Given the description of an element on the screen output the (x, y) to click on. 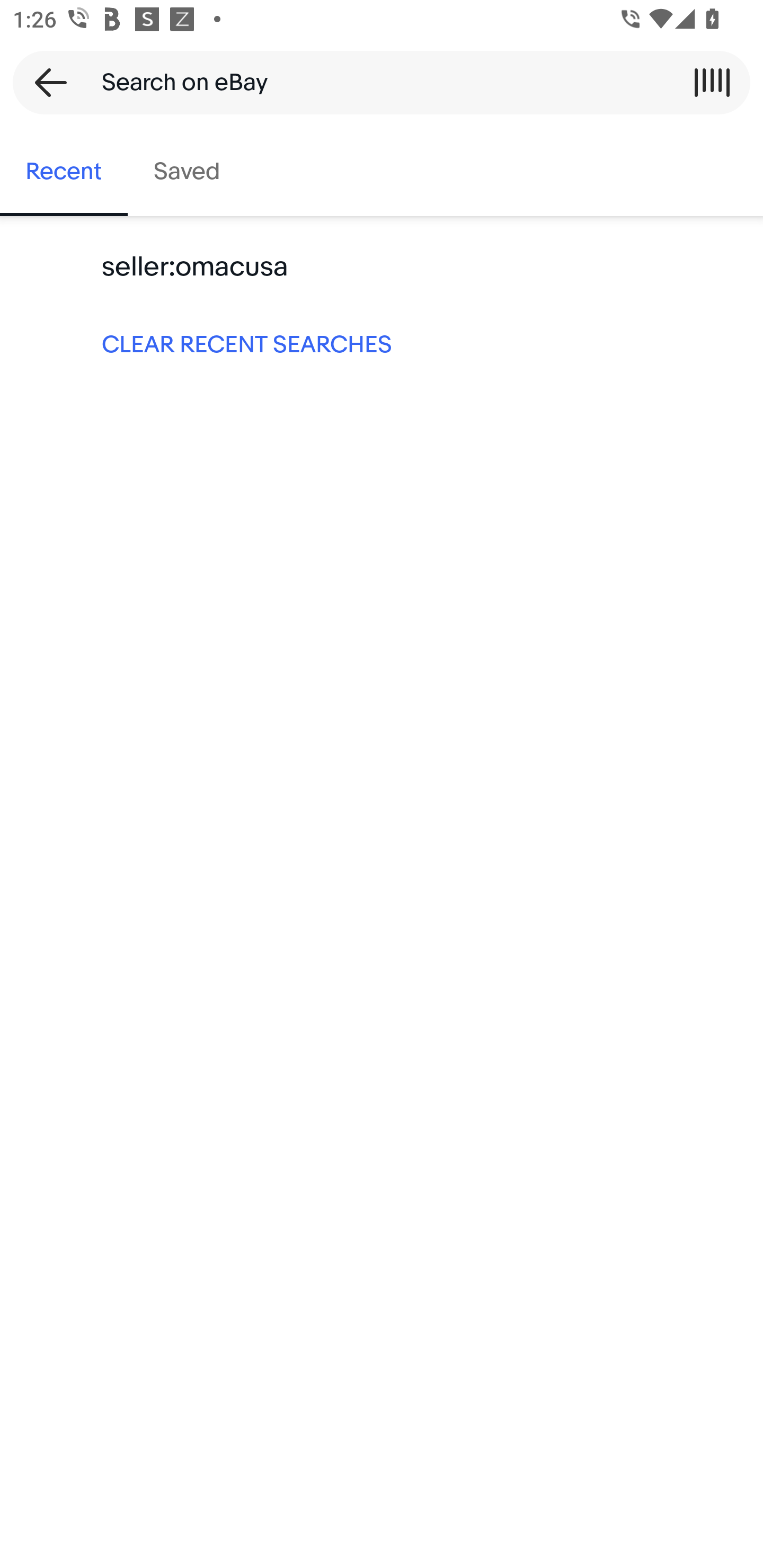
Back (44, 82)
Scan a barcode (711, 82)
Search on eBay (375, 82)
Saved, tab 2 of 2 Saved (186, 171)
seller:omacusa Keyword search seller:omacusa: (381, 266)
CLEAR RECENT SEARCHES (381, 343)
